Given the description of an element on the screen output the (x, y) to click on. 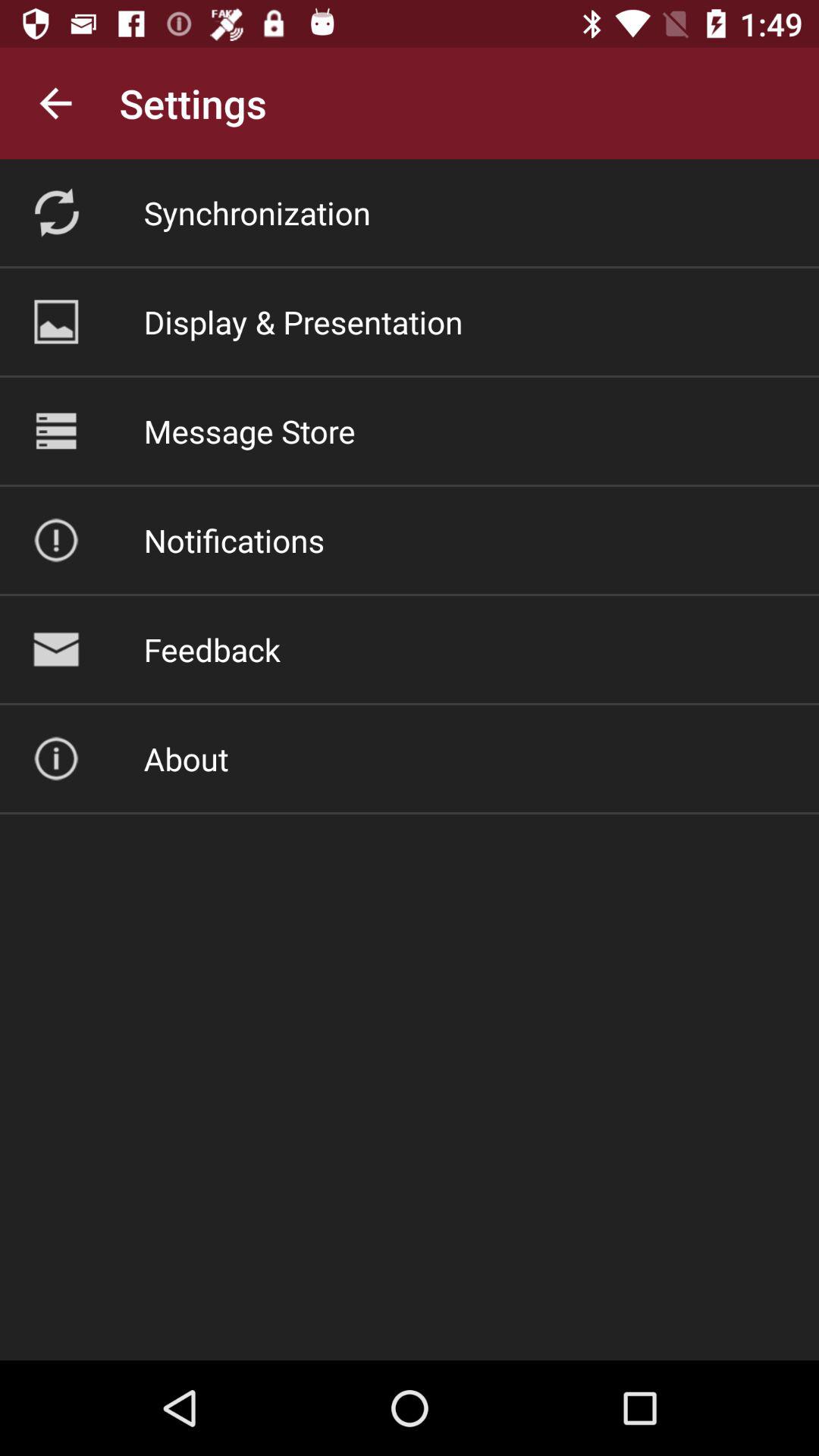
open item below synchronization icon (302, 321)
